Given the description of an element on the screen output the (x, y) to click on. 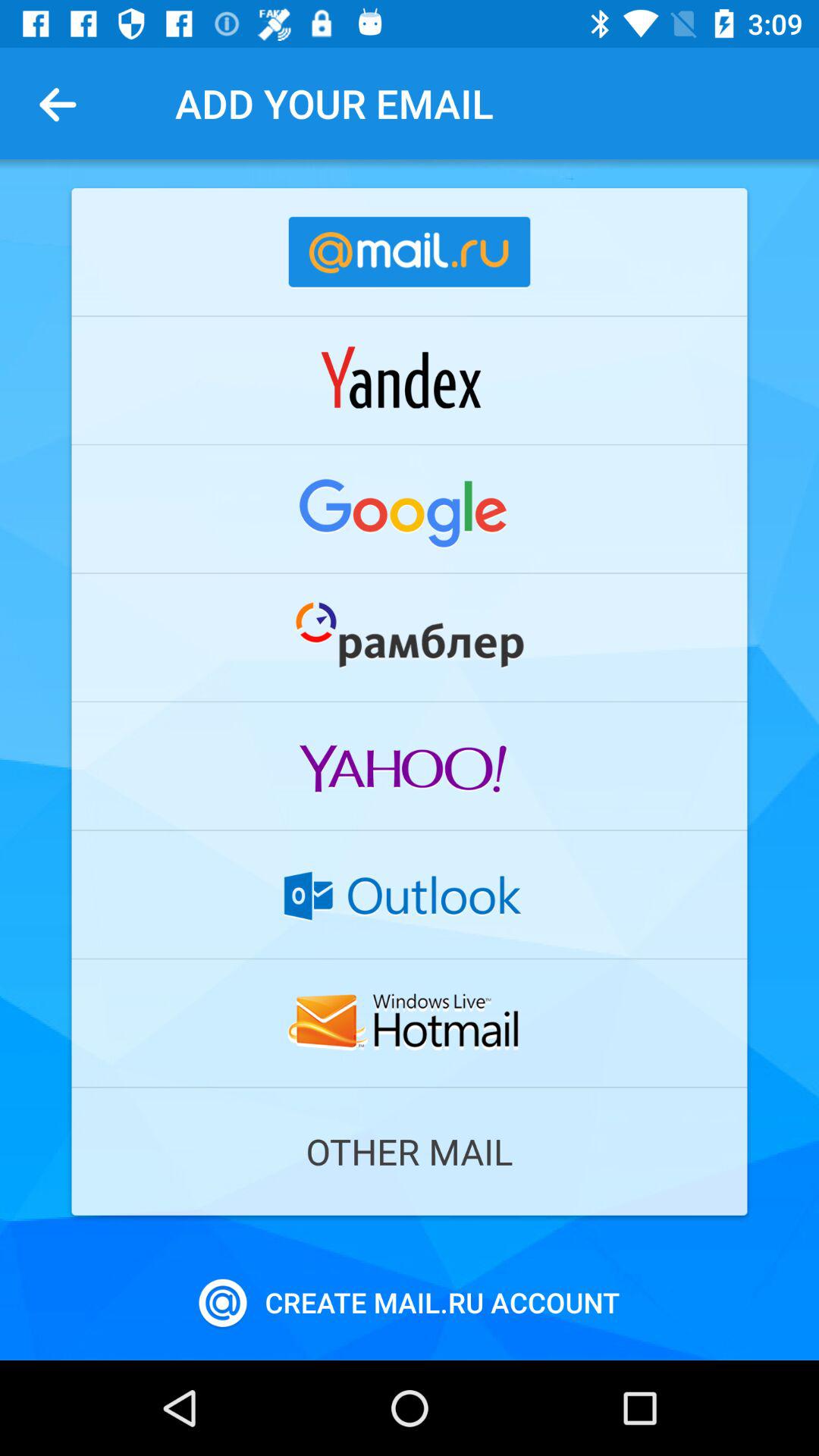
mail.ru button (409, 251)
